Given the description of an element on the screen output the (x, y) to click on. 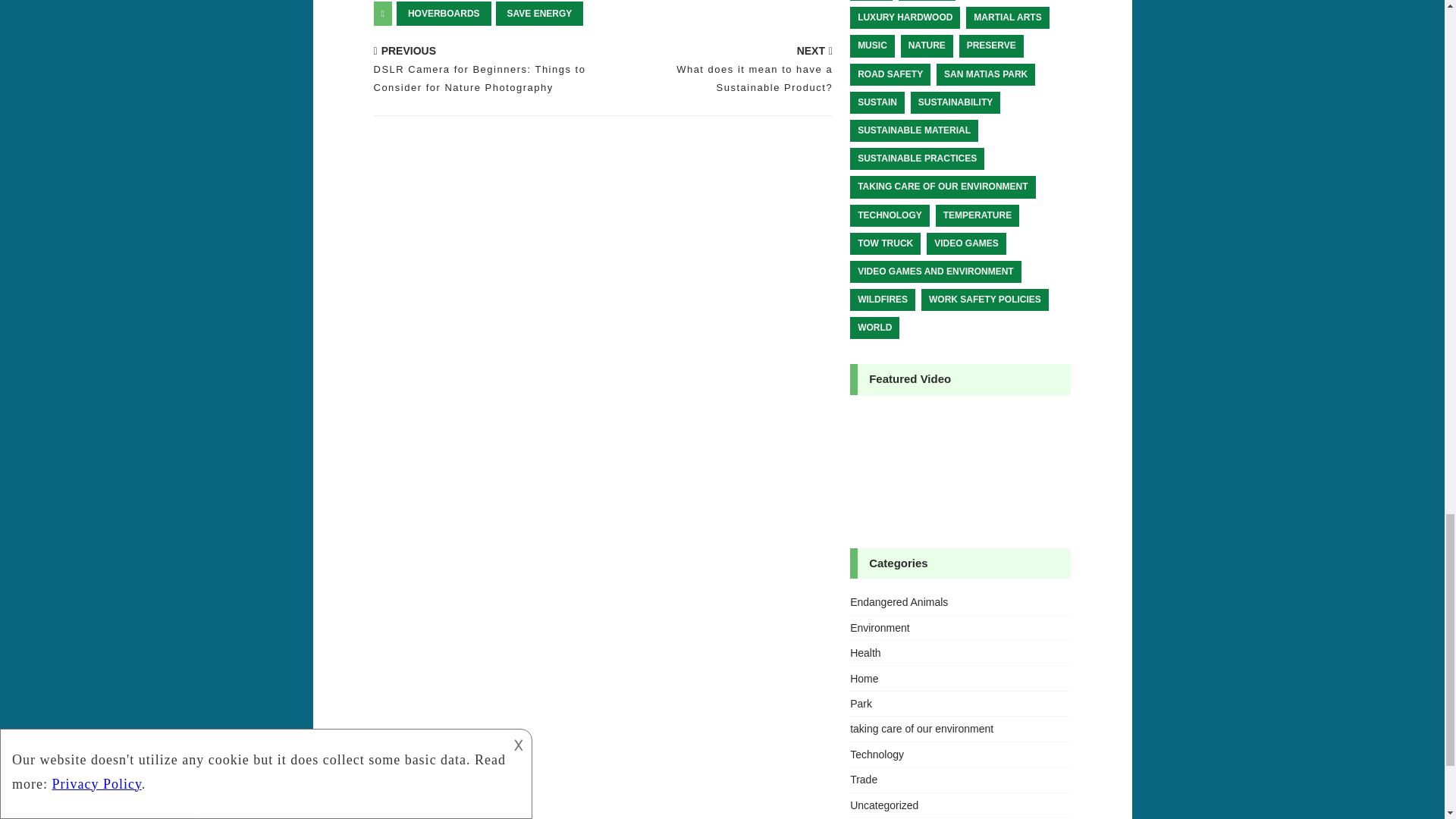
YouTube video player (960, 467)
HOVERBOARDS (444, 13)
SAVE ENERGY (539, 13)
